Given the description of an element on the screen output the (x, y) to click on. 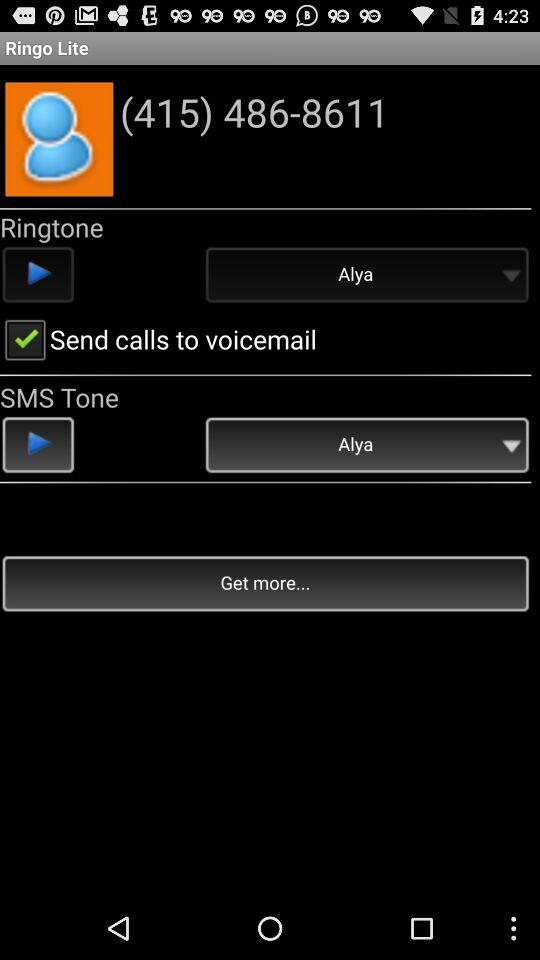
select the alya from dropdown (366, 276)
